Given the description of an element on the screen output the (x, y) to click on. 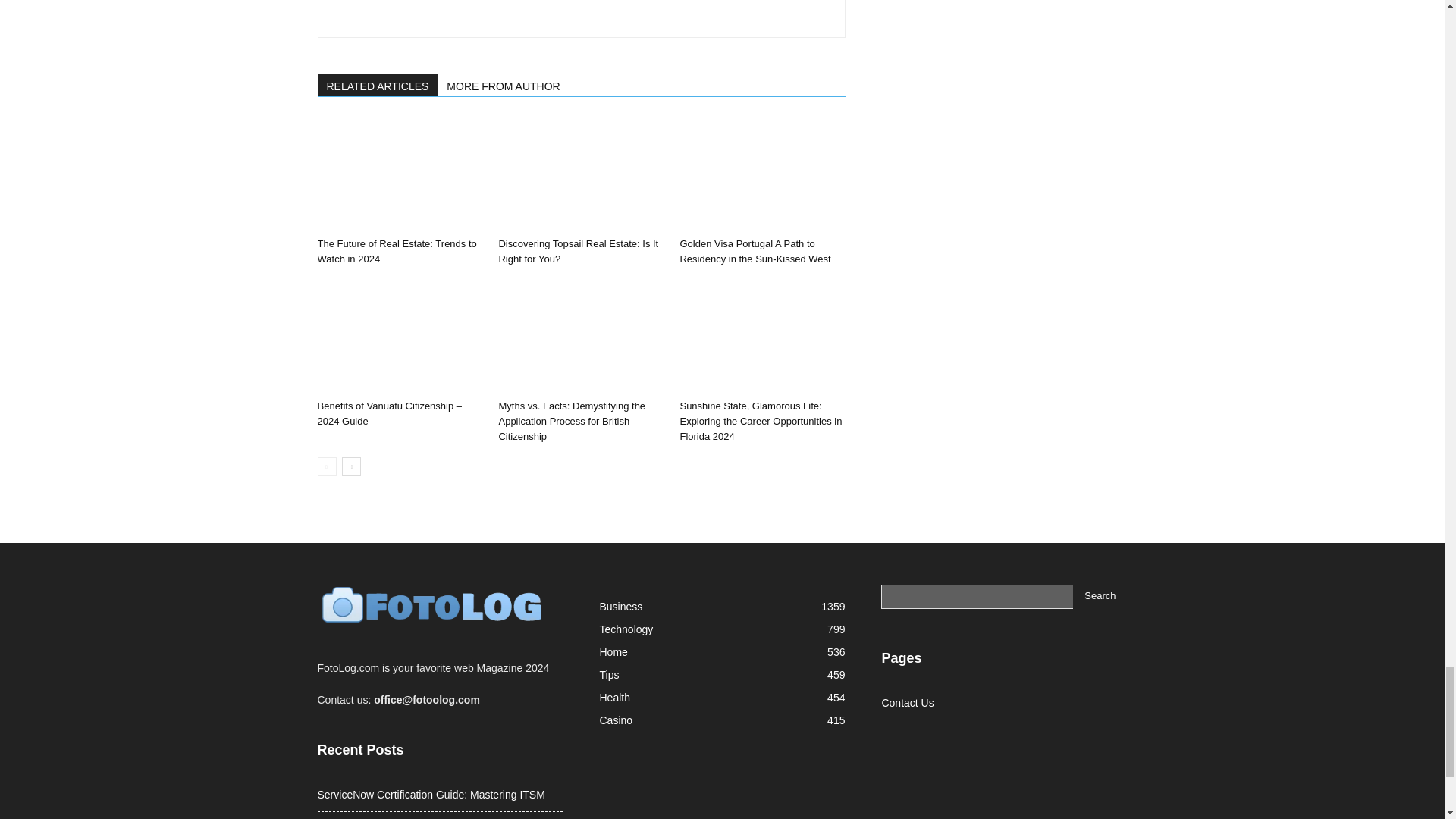
Discovering Topsail Real Estate: Is It Right for You? (577, 251)
Discovering Topsail Real Estate: Is It Right for You? (580, 173)
RELATED ARTICLES (377, 84)
The Future of Real Estate: Trends to Watch in 2024 (396, 251)
The Future of Real Estate: Trends to Watch in 2024 (399, 173)
Search (1099, 596)
